Given the description of an element on the screen output the (x, y) to click on. 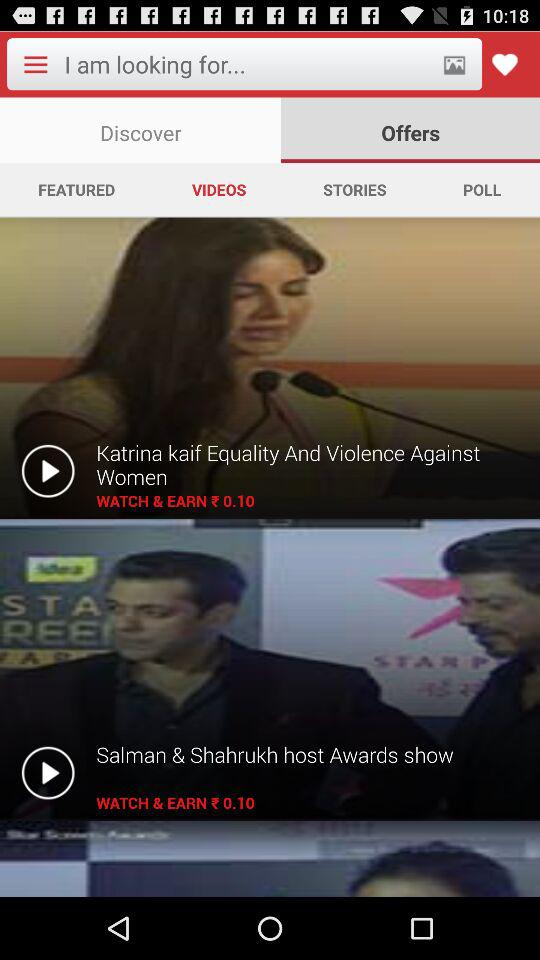
turn on icon above the discover app (246, 64)
